Given the description of an element on the screen output the (x, y) to click on. 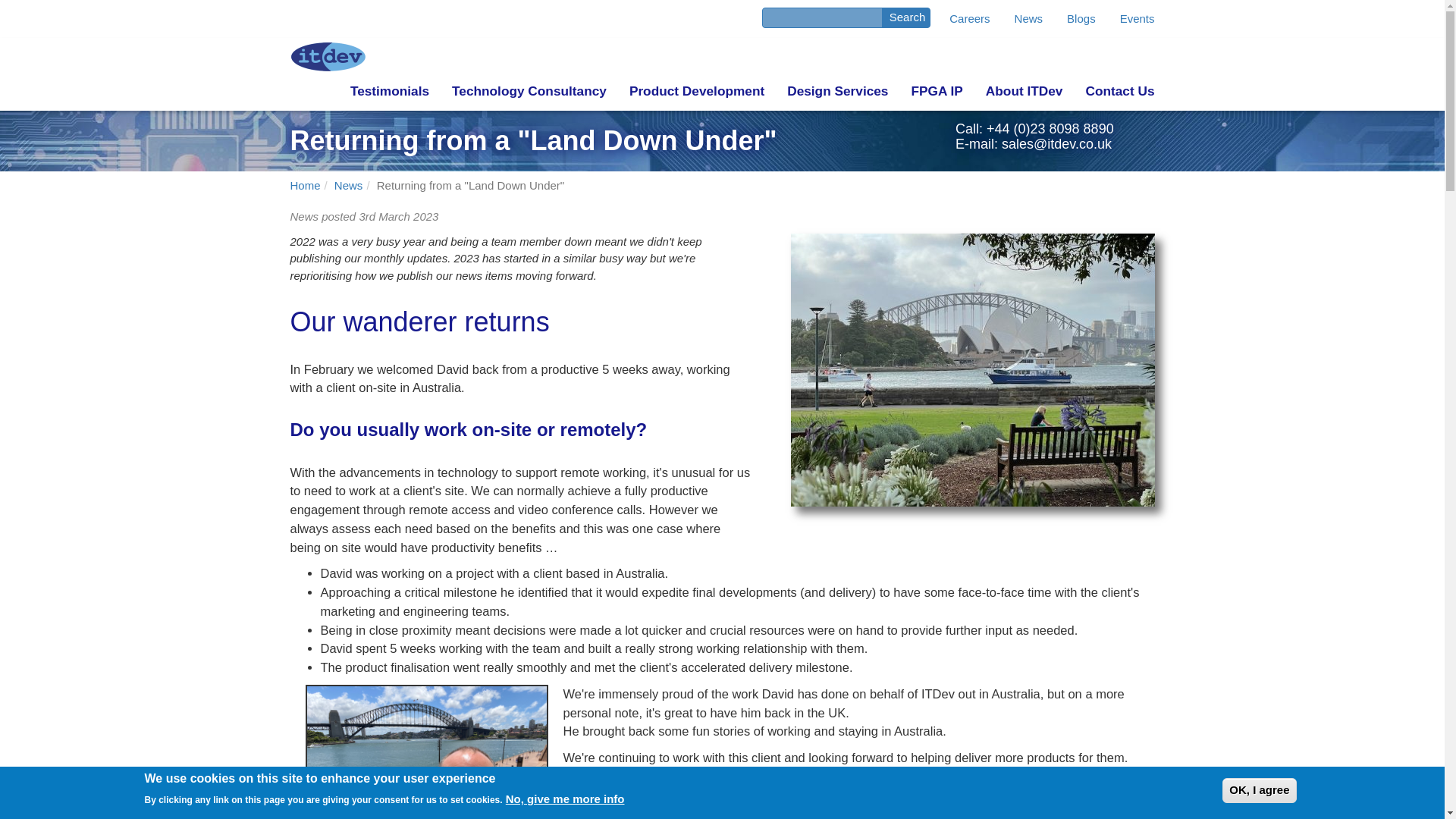
News (1028, 18)
Search (907, 17)
ITDev (936, 90)
Careers (969, 18)
About ITDev (1024, 90)
Enter the terms you wish to search for. (822, 17)
Decline (1113, 801)
Events (1137, 18)
News (348, 185)
Product Development (696, 90)
Contact Us (1120, 90)
Technology Consultancy (529, 90)
Search (907, 17)
FPGA IP (936, 90)
Home (304, 185)
